Given the description of an element on the screen output the (x, y) to click on. 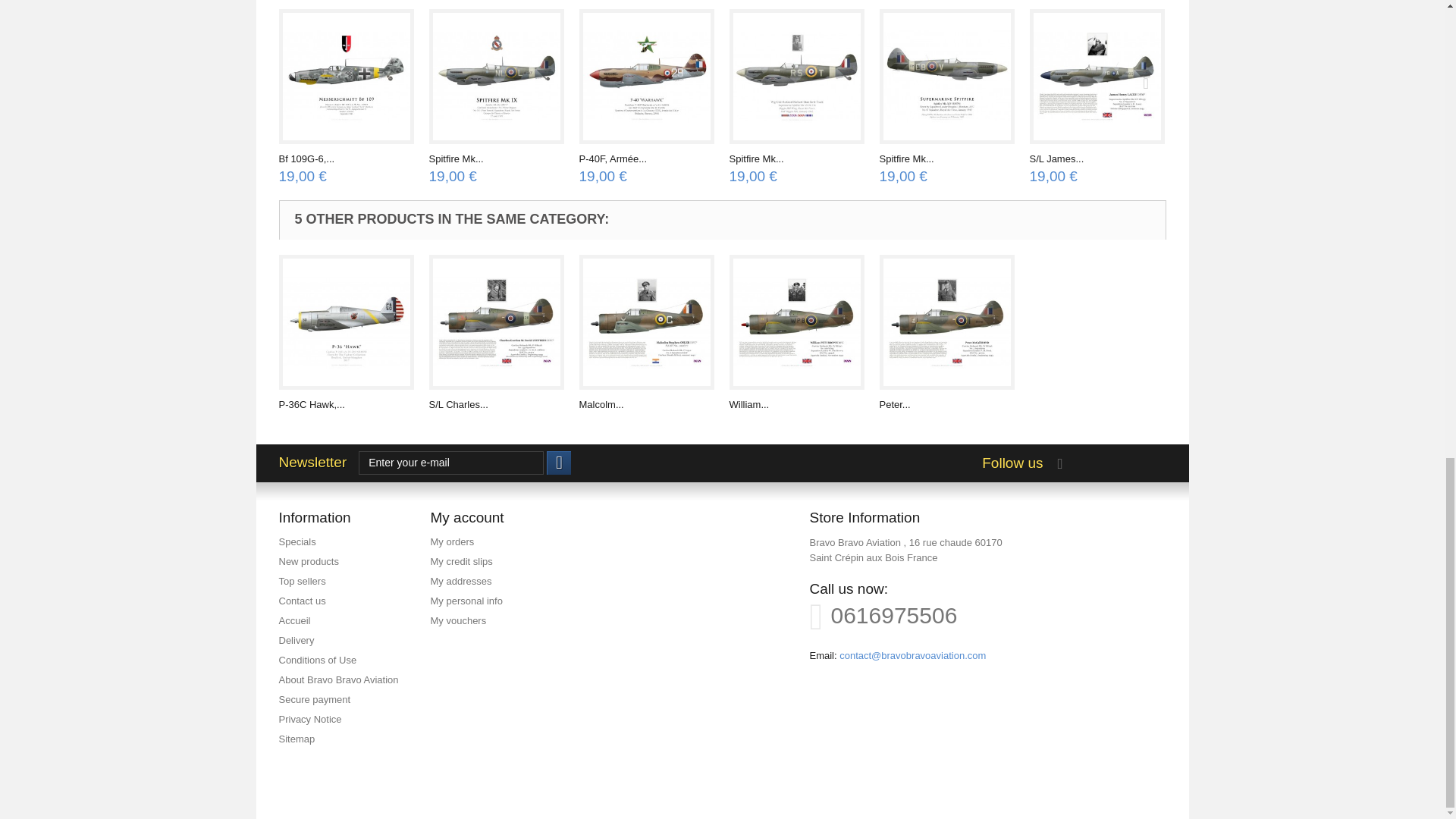
Bf 109G-6,... (306, 158)
Spitfire Mk... (756, 158)
Enter your e-mail (450, 463)
Spitfire Mk... (456, 158)
